Given the description of an element on the screen output the (x, y) to click on. 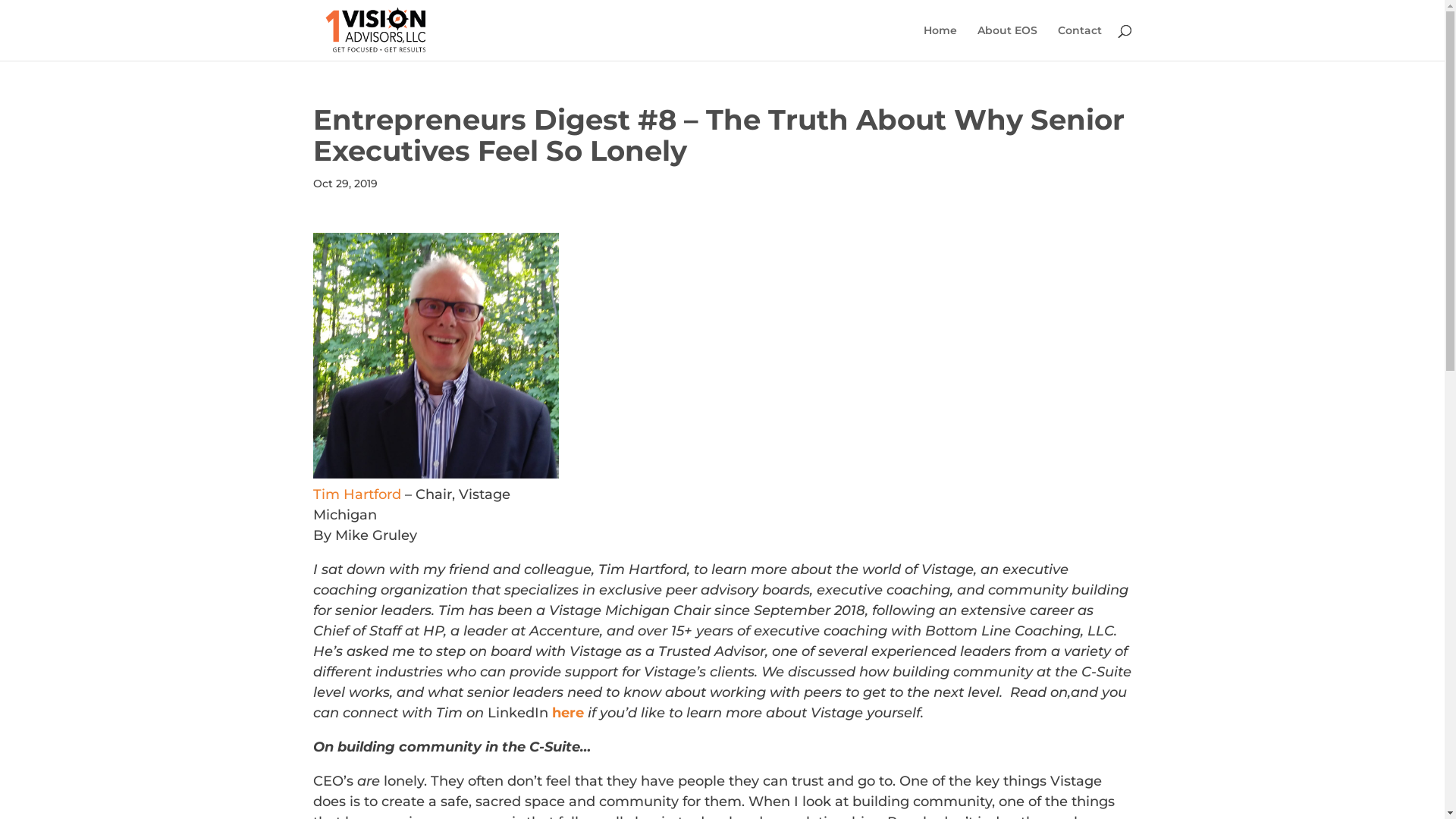
Contact Element type: text (1079, 42)
Tim Hartford Element type: text (356, 494)
here Element type: text (567, 712)
About EOS Element type: text (1006, 42)
Home Element type: text (940, 42)
